Given the description of an element on the screen output the (x, y) to click on. 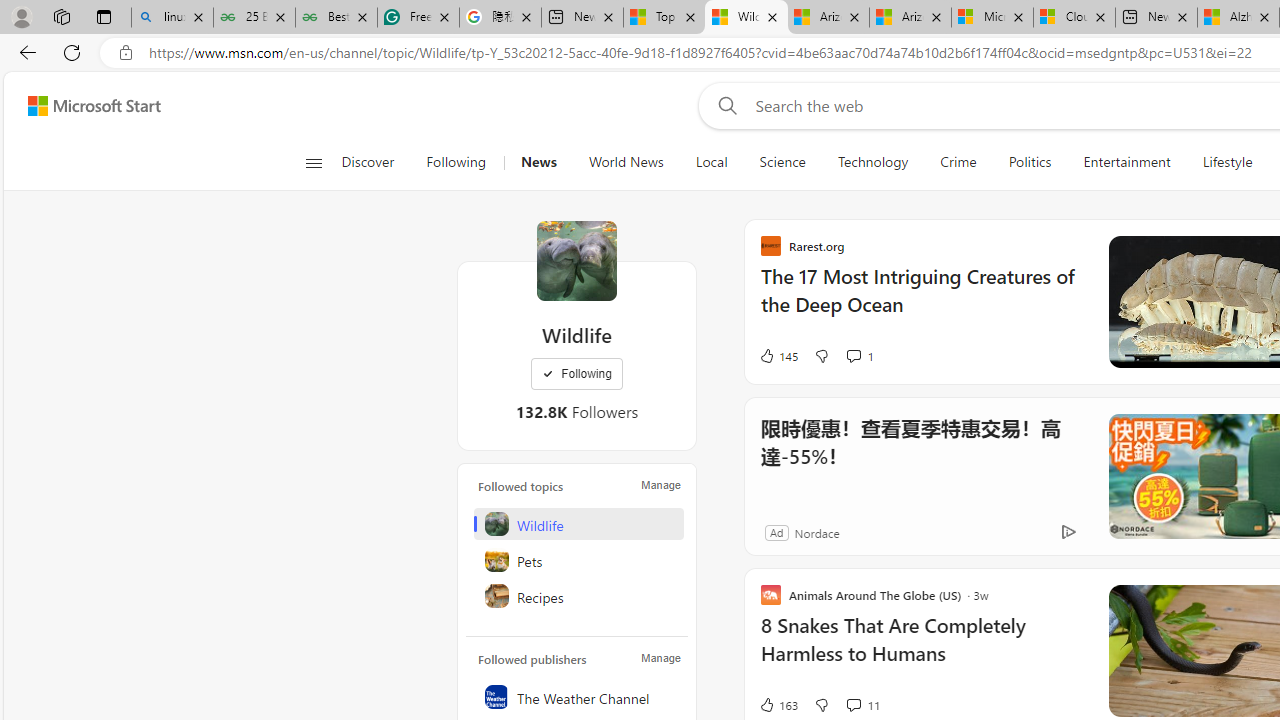
8 Snakes That Are Completely Harmless to Humans (922, 650)
25 Basic Linux Commands For Beginners - GeeksforGeeks (254, 17)
